Given the description of an element on the screen output the (x, y) to click on. 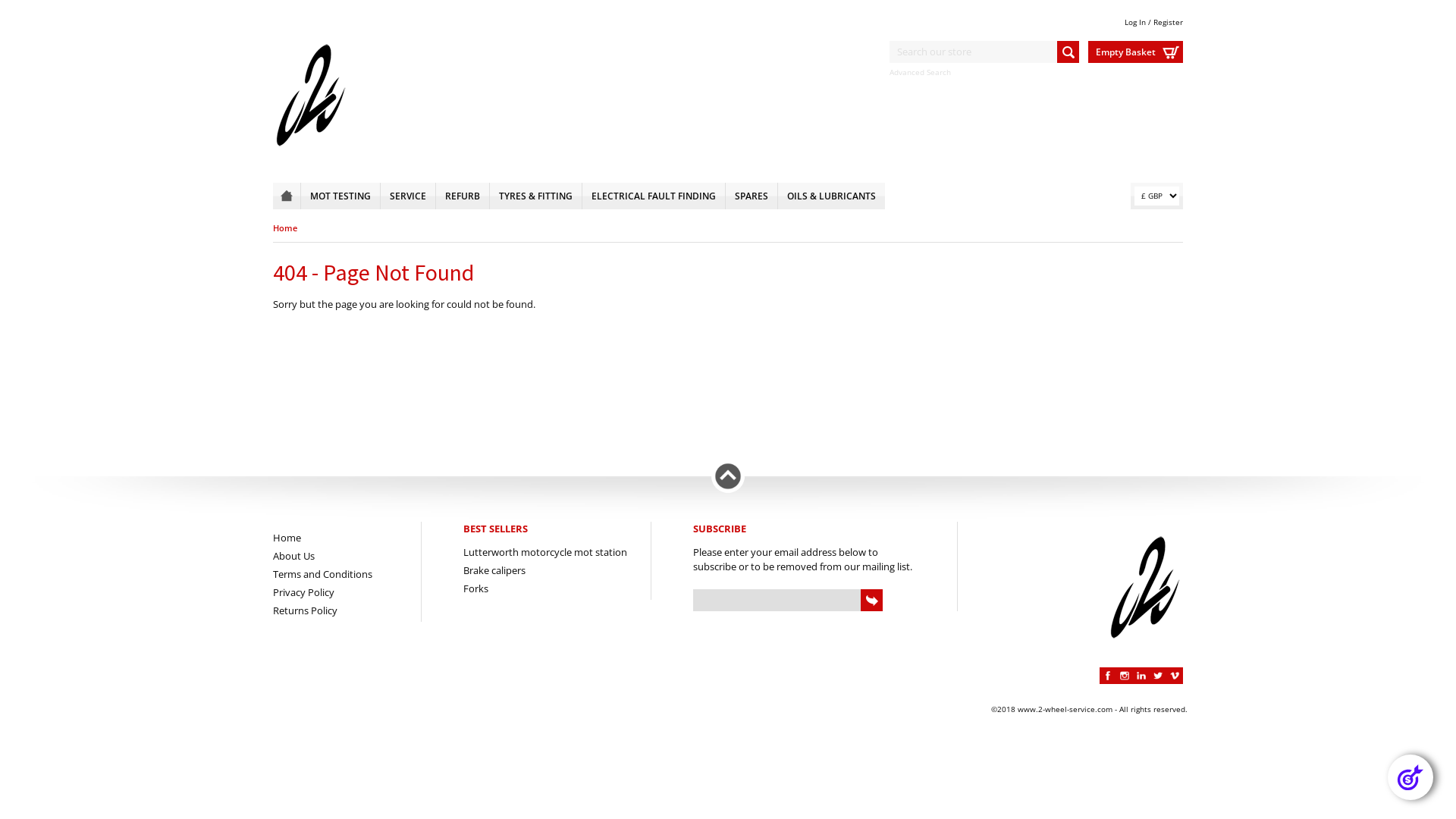
Forks Element type: text (475, 588)
SERVICE Element type: text (407, 195)
Log In Element type: text (1134, 21)
Register Element type: text (1168, 21)
Advanced Search Element type: text (919, 71)
Terms and Conditions Element type: text (322, 573)
REFURB Element type: text (462, 195)
Search Element type: text (1068, 51)
Linkedin Element type: text (1140, 675)
Home Element type: text (287, 537)
Privacy Policy Element type: text (303, 592)
HOME Element type: text (286, 195)
Instagram Element type: text (1124, 675)
MOT TESTING Element type: text (340, 195)
ELECTRICAL FAULT FINDING Element type: text (653, 195)
OILS & LUBRICANTS Element type: text (831, 195)
Brake calipers Element type: text (494, 570)
Facebook Element type: text (1107, 675)
Empty Basket Element type: text (1135, 51)
Subscribe Element type: text (871, 600)
Twitter Element type: text (1157, 675)
SPARES Element type: text (751, 195)
Vimeo Element type: text (1174, 675)
TYRES & FITTING Element type: text (535, 195)
About Us Element type: text (293, 555)
Returns Policy Element type: text (305, 610)
Home Element type: text (285, 227)
Lutterworth motorcycle mot station Element type: text (545, 551)
